Given the description of an element on the screen output the (x, y) to click on. 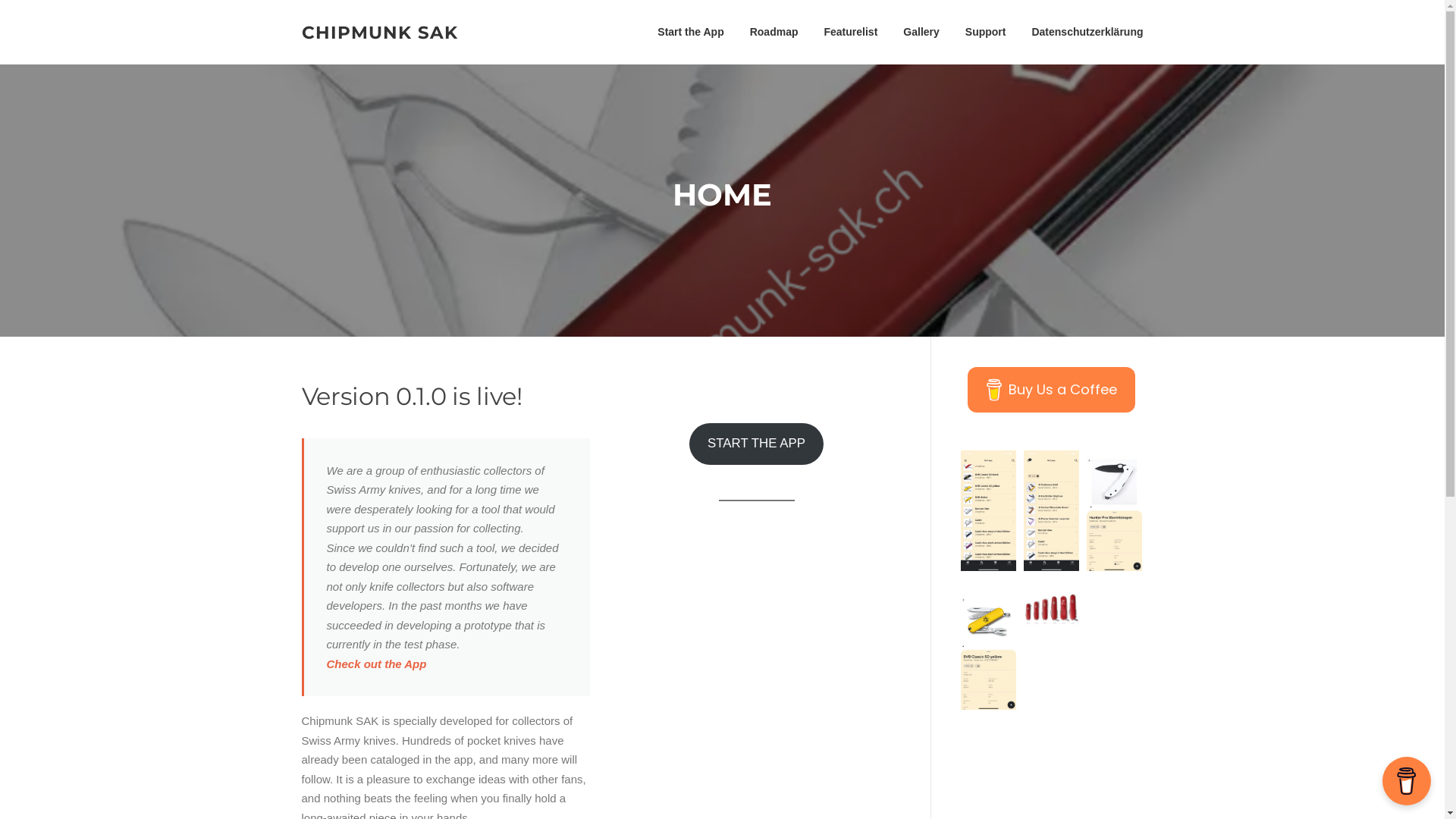
Start the App Element type: text (690, 32)
Check out the App Element type: text (376, 663)
Support Element type: text (985, 32)
CHIPMUNK SAK Element type: text (379, 31)
Featurelist Element type: text (851, 32)
START THE APP Element type: text (756, 443)
Gallery Element type: text (920, 32)
Roadmap Element type: text (774, 32)
Buy Us a Coffee Element type: text (1051, 389)
